Given the description of an element on the screen output the (x, y) to click on. 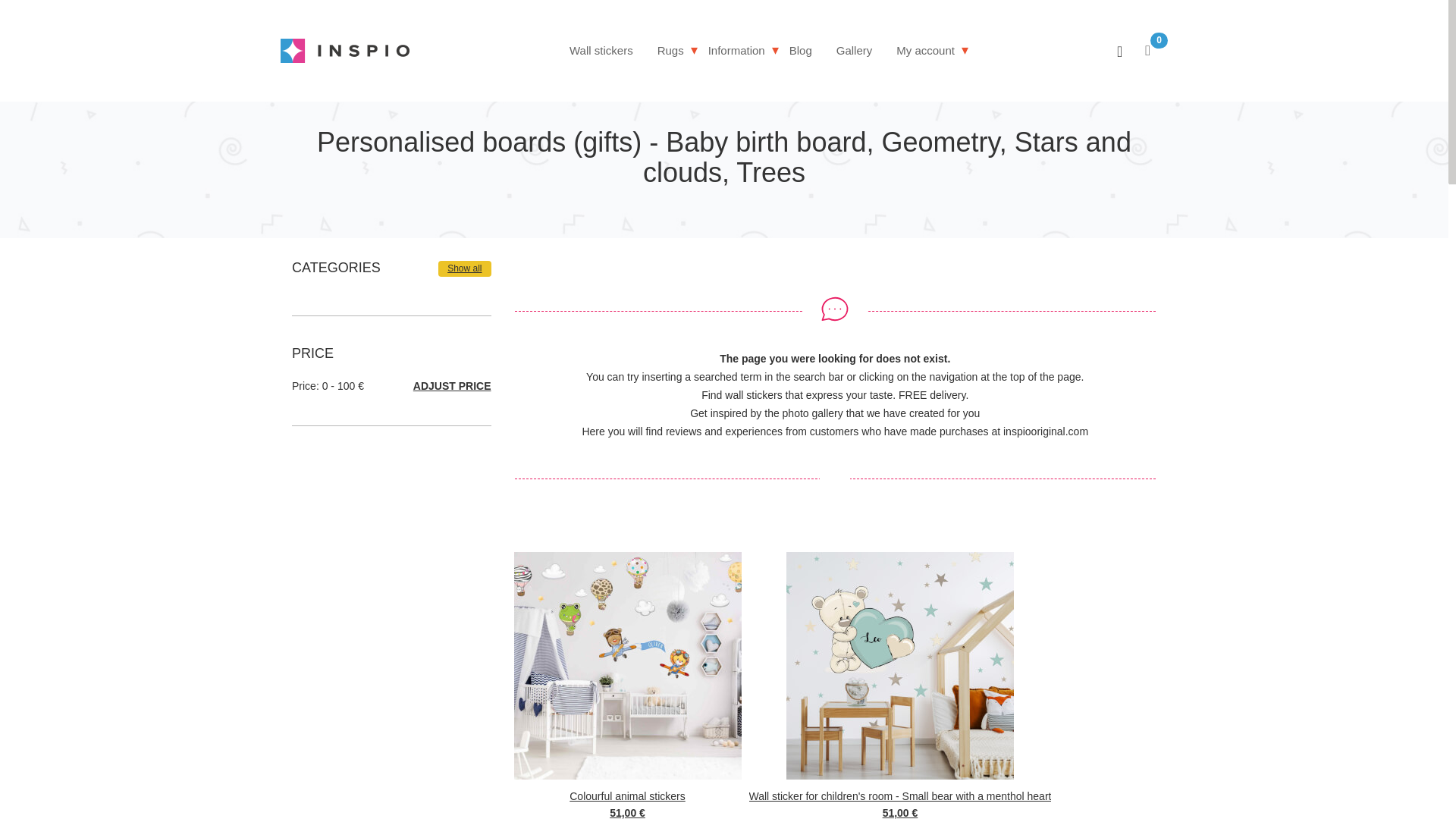
Wall stickers (601, 50)
Information (736, 50)
Colourful animal stickers (627, 795)
My account (925, 50)
